Given the description of an element on the screen output the (x, y) to click on. 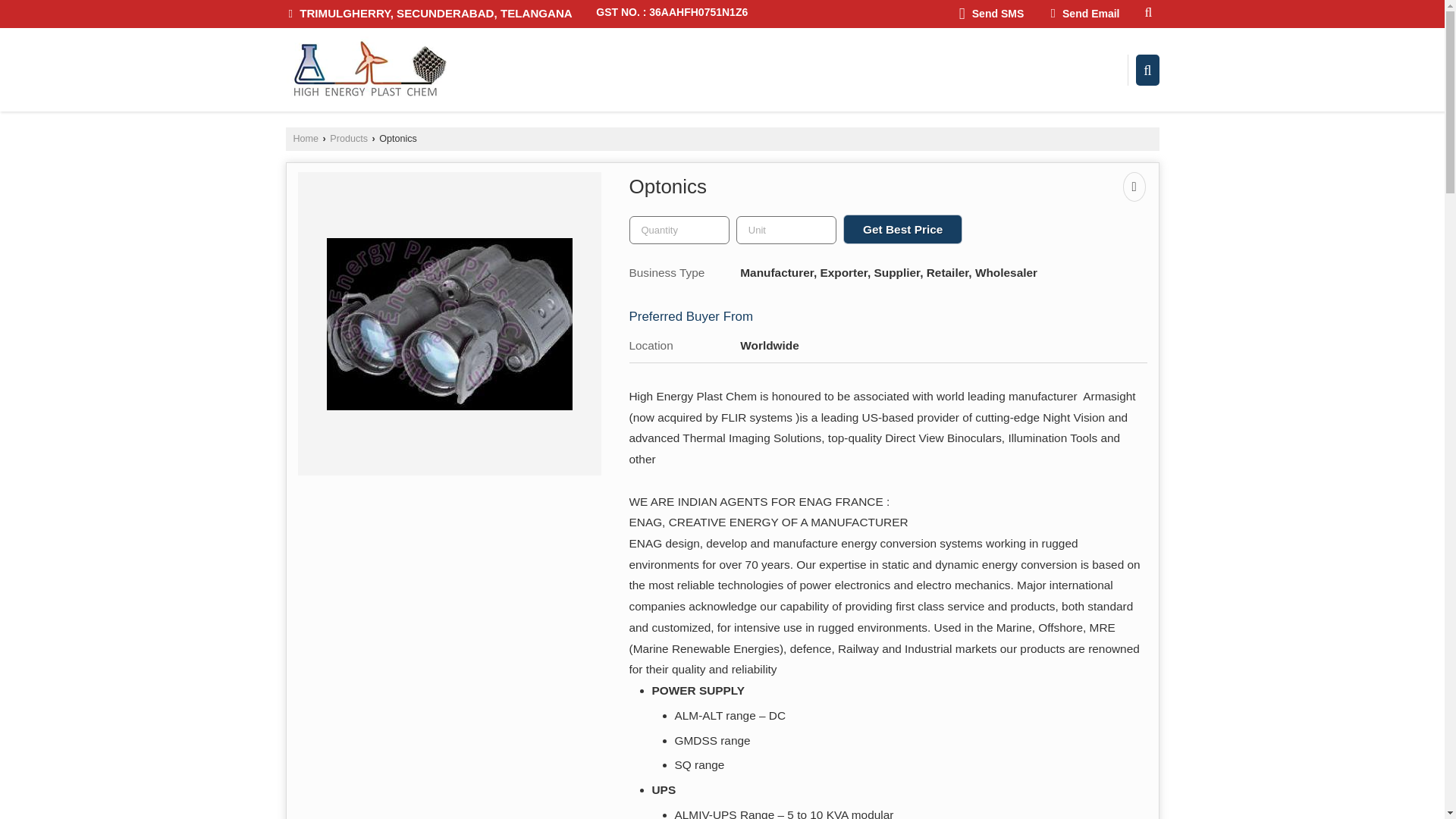
Send Email (1085, 14)
Send SMS (991, 14)
High Energy Plast Chem (367, 70)
